Given the description of an element on the screen output the (x, y) to click on. 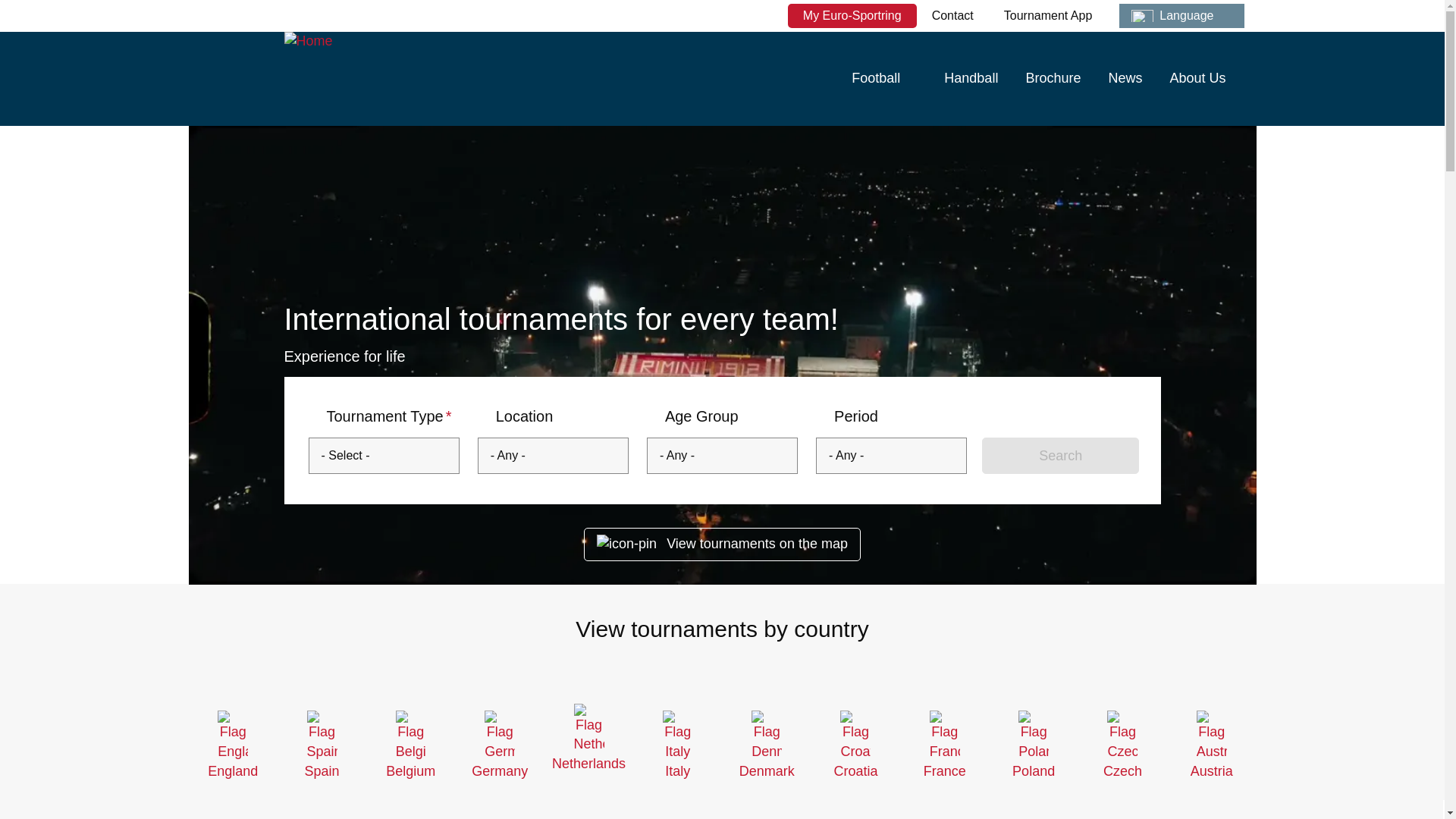
Tournament App (1048, 15)
Contact (952, 15)
Language (1181, 15)
My Euro-Sportring (852, 15)
Home (364, 83)
Football (884, 78)
